Given the description of an element on the screen output the (x, y) to click on. 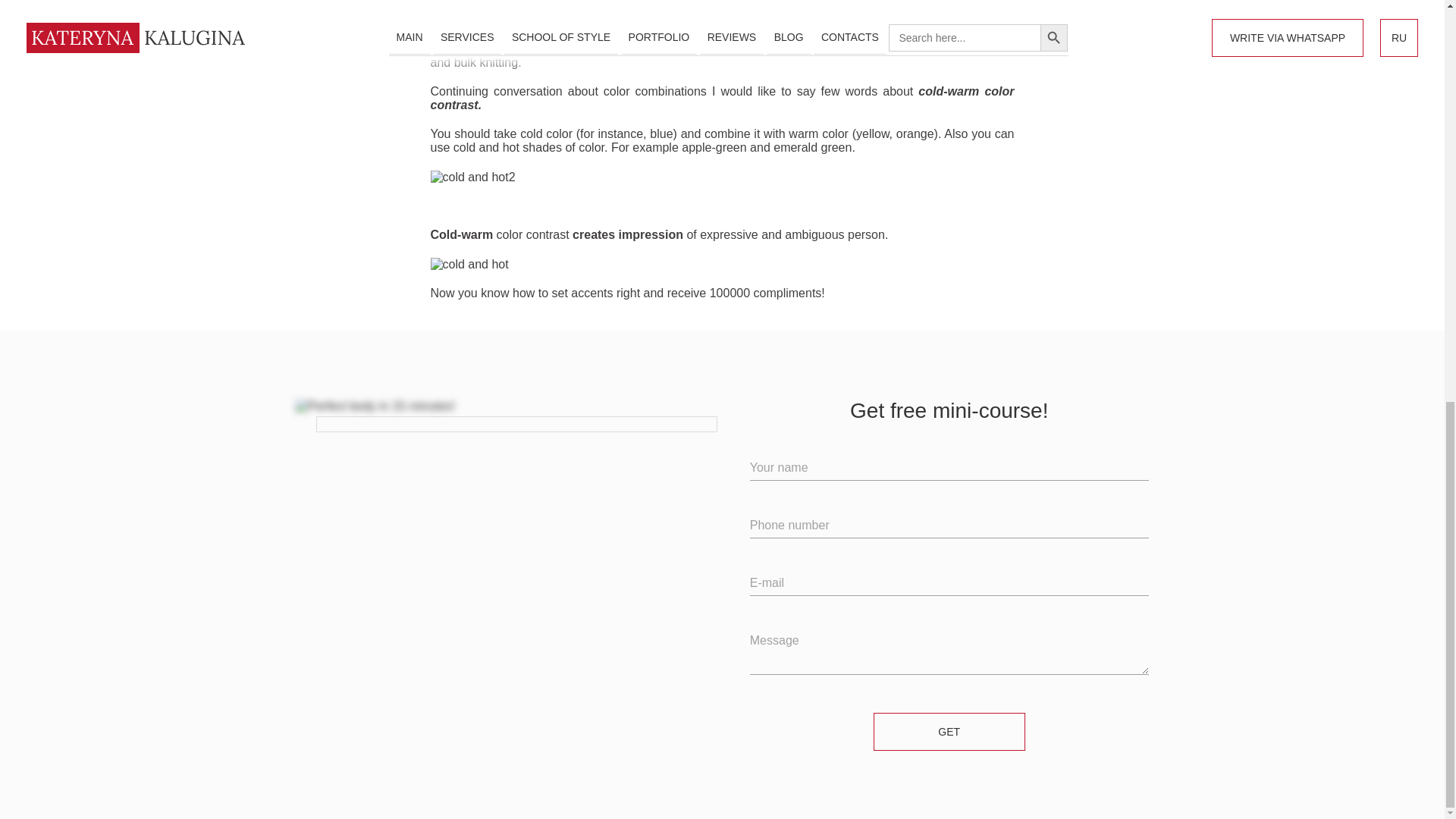
GET (949, 731)
